Given the description of an element on the screen output the (x, y) to click on. 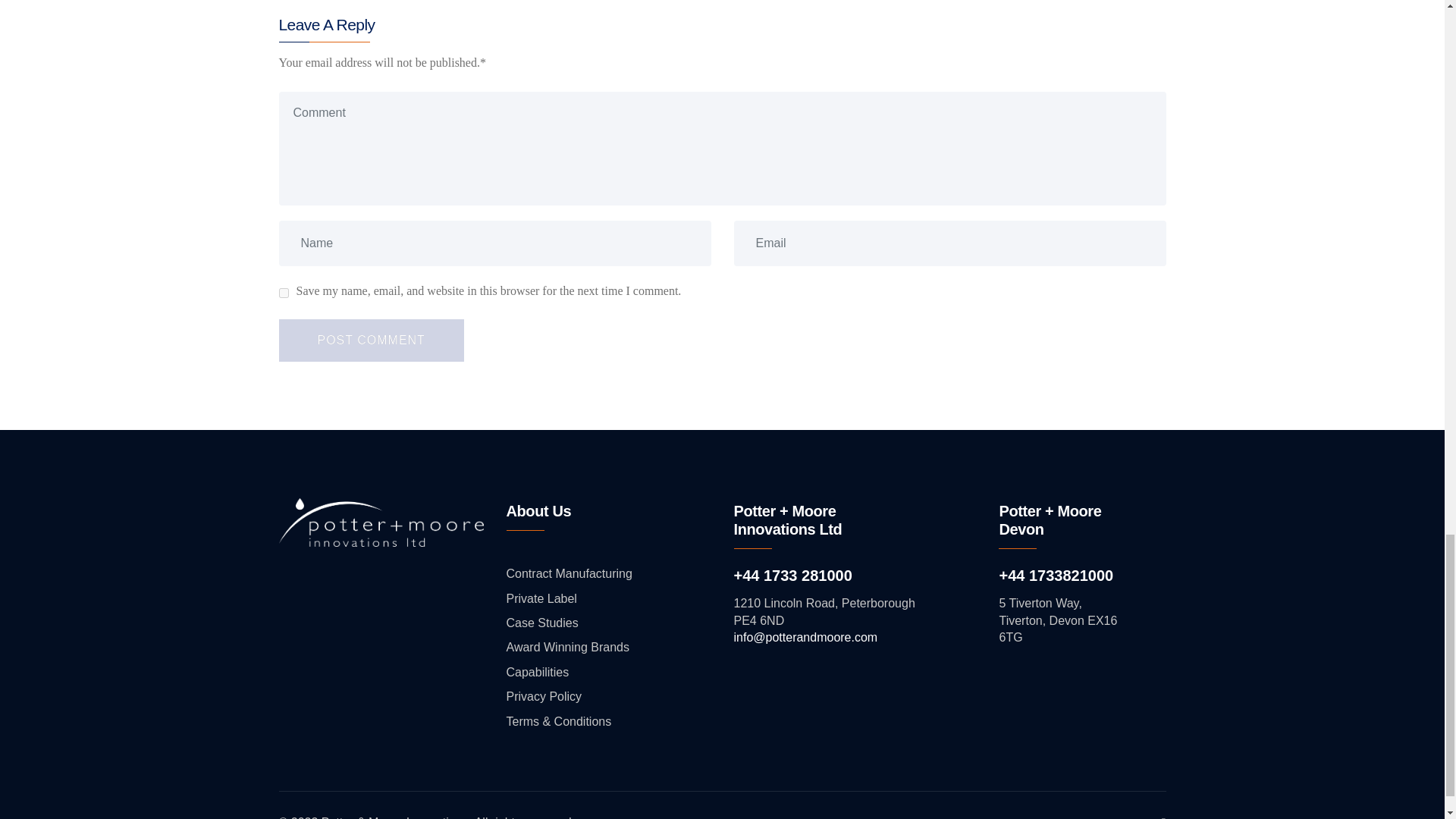
yes (283, 293)
